Given the description of an element on the screen output the (x, y) to click on. 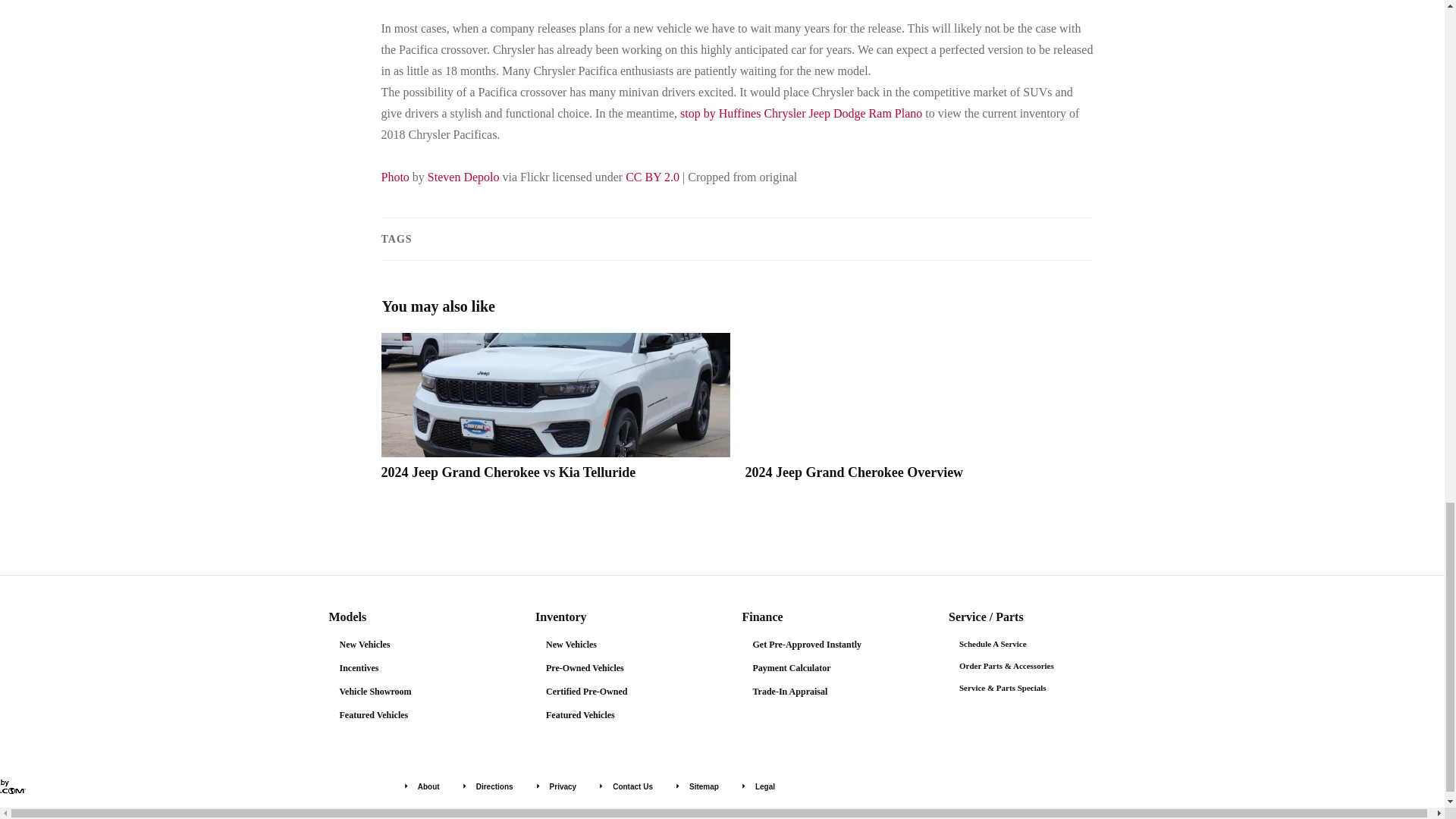
2024 Jeep Grand Cherokee vs Kia Telluride (507, 472)
ddc-logo-black (13, 786)
2024 Jeep Grand Cherokee Overview (853, 472)
